Given the description of an element on the screen output the (x, y) to click on. 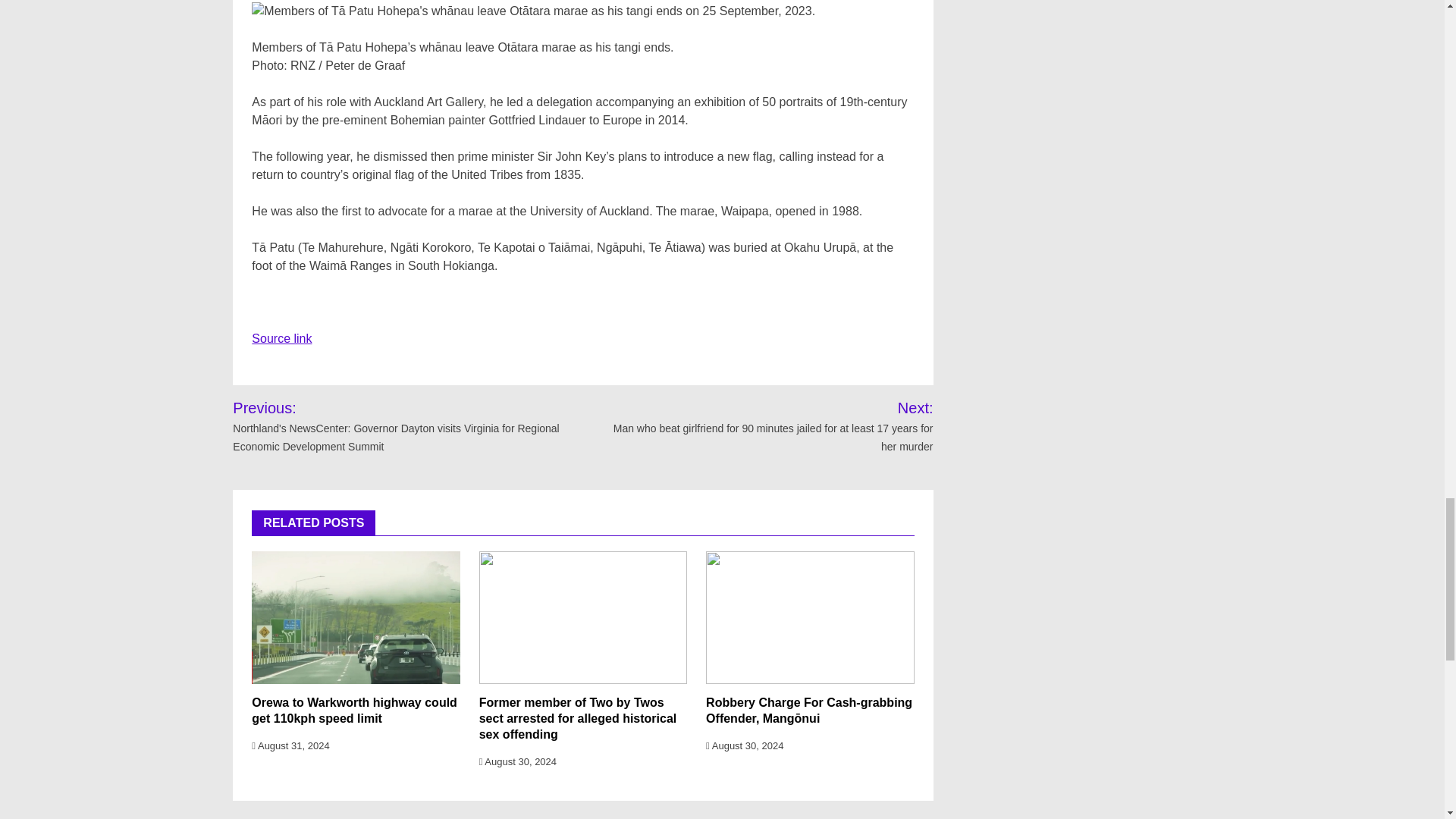
August 30, 2024 (744, 745)
August 30, 2024 (517, 761)
Source link (281, 338)
August 31, 2024 (290, 745)
Orewa to Warkworth highway could get 110kph speed limit (354, 710)
